Given the description of an element on the screen output the (x, y) to click on. 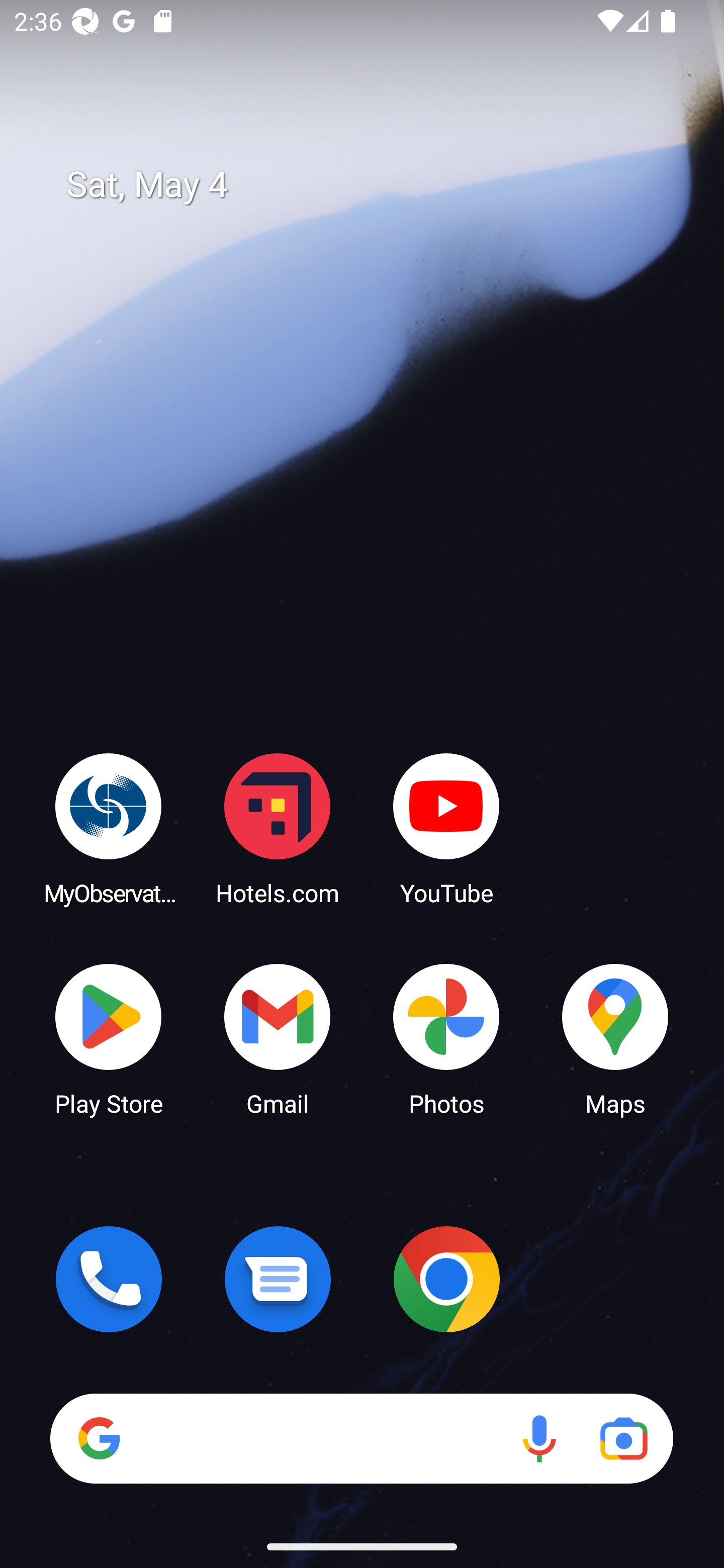
Sat, May 4 (375, 184)
MyObservatory (108, 828)
Hotels.com (277, 828)
YouTube (445, 828)
Play Store (108, 1038)
Gmail (277, 1038)
Photos (445, 1038)
Maps (615, 1038)
Phone (108, 1279)
Messages (277, 1279)
Chrome (446, 1279)
Search Voice search Google Lens (361, 1438)
Voice search (539, 1438)
Google Lens (623, 1438)
